Given the description of an element on the screen output the (x, y) to click on. 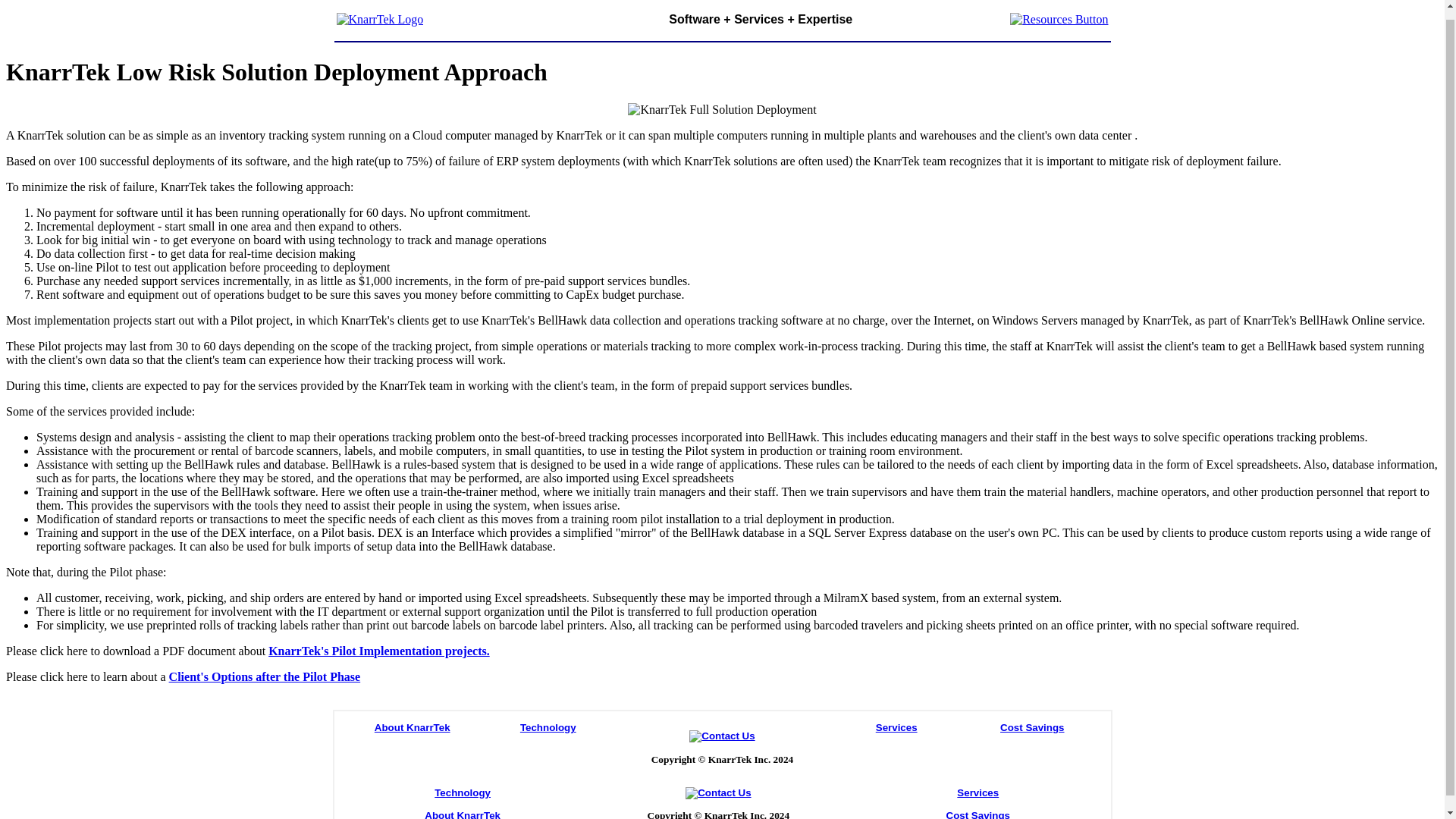
Technology (547, 727)
About KnarrTek (411, 727)
Services (977, 792)
KnarrTek's Pilot Implementation projects. (378, 650)
Cost Savings (1032, 727)
Client's Options after the Pilot Phase (264, 676)
Services (896, 727)
Technology (461, 792)
